Given the description of an element on the screen output the (x, y) to click on. 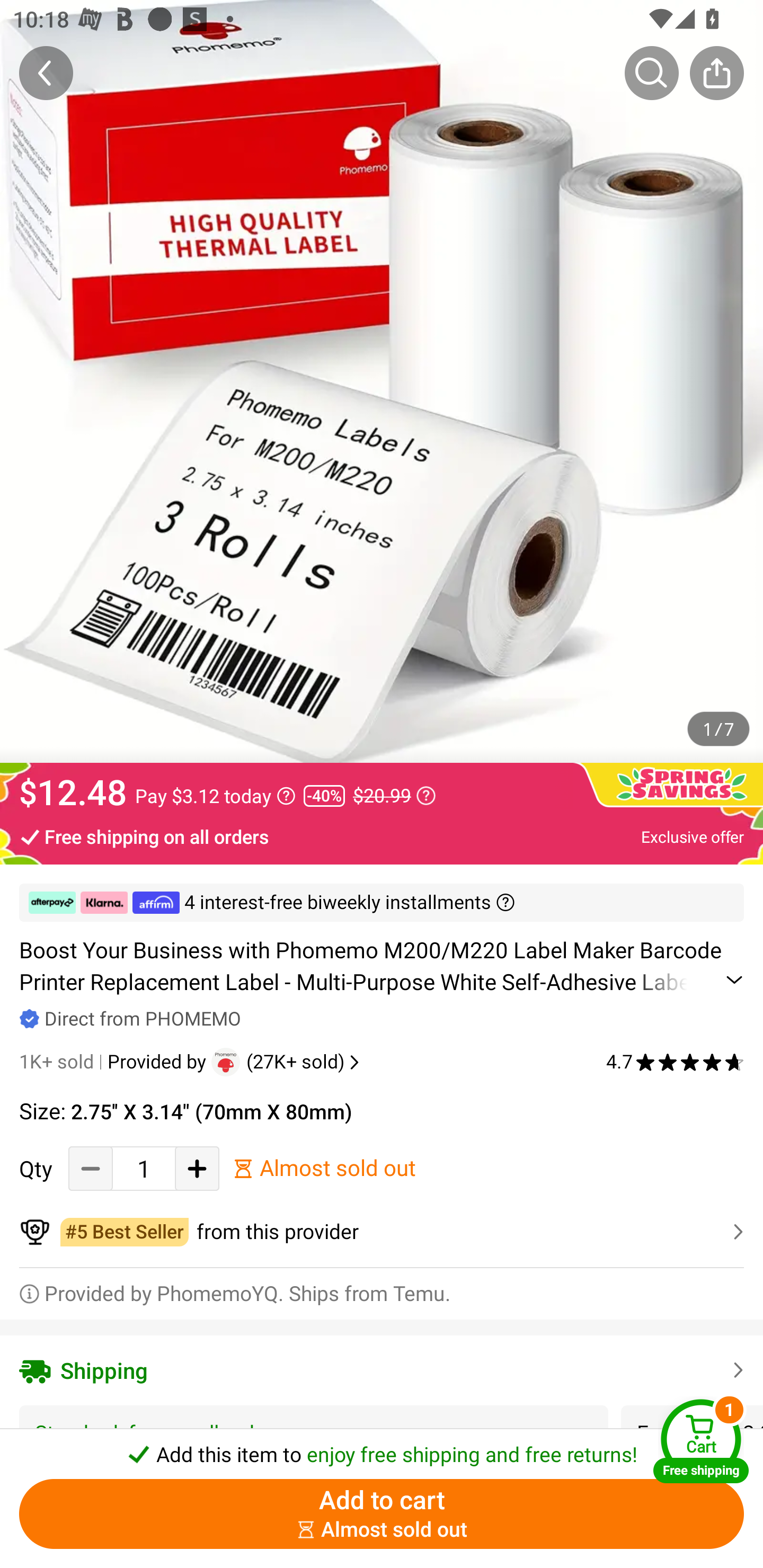
Back (46, 72)
Share (716, 72)
Pay $3.12 today   (215, 795)
Free shipping on all orders Exclusive offer (381, 836)
￼ ￼ ￼ 4 interest-free biweekly installments ￼ (381, 902)
1K+ sold Provided by  (115, 1061)
4.7 (674, 1061)
Decrease Quantity Button (90, 1168)
1 (143, 1168)
Add Quantity button (196, 1168)
￼￼from this provider (381, 1231)
Shipping (381, 1369)
Cart Free shipping Cart (701, 1440)
Add to cart ￼￼Almost sold out (381, 1513)
